Given the description of an element on the screen output the (x, y) to click on. 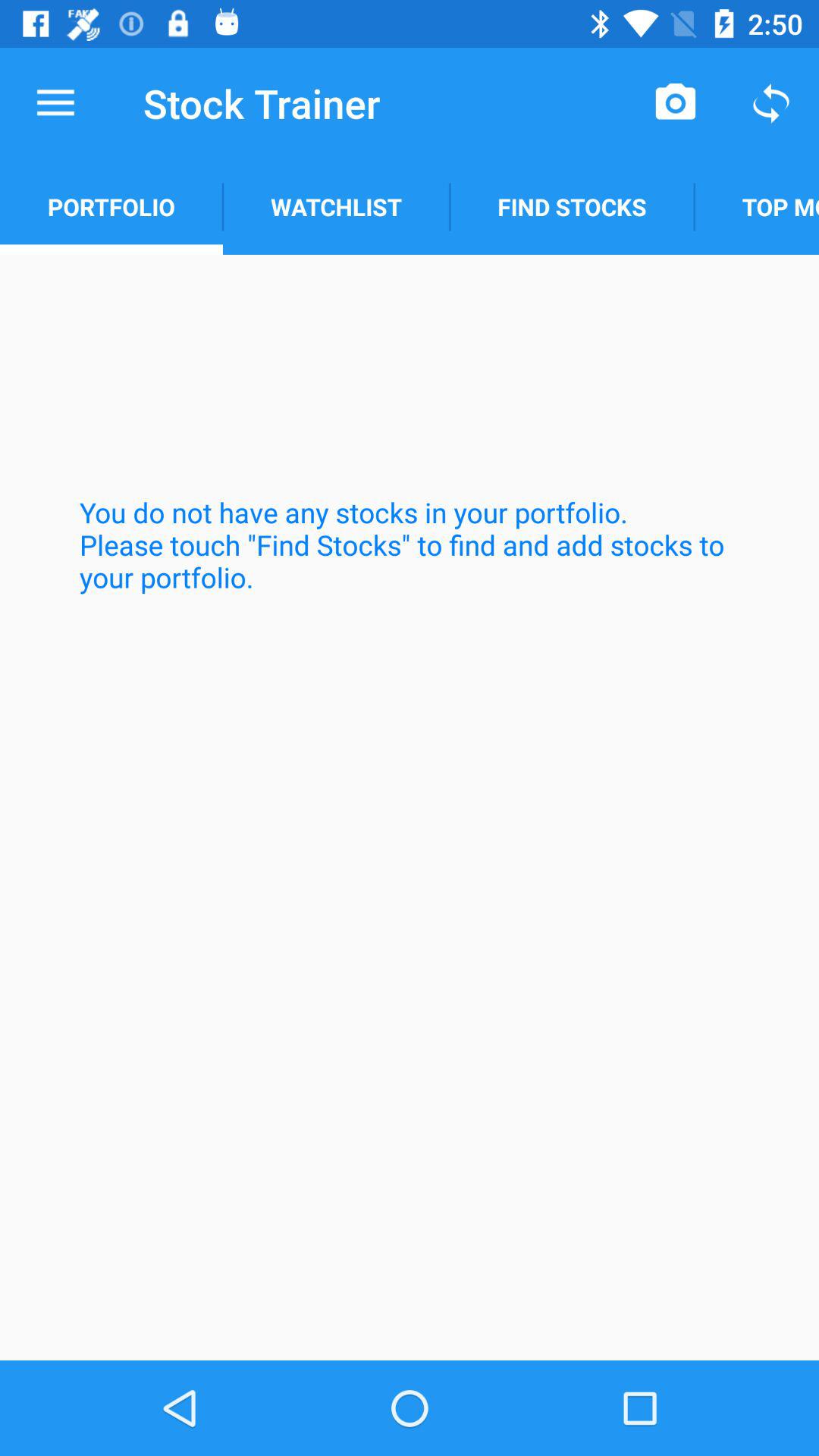
tap the icon above the you do not (756, 206)
